Given the description of an element on the screen output the (x, y) to click on. 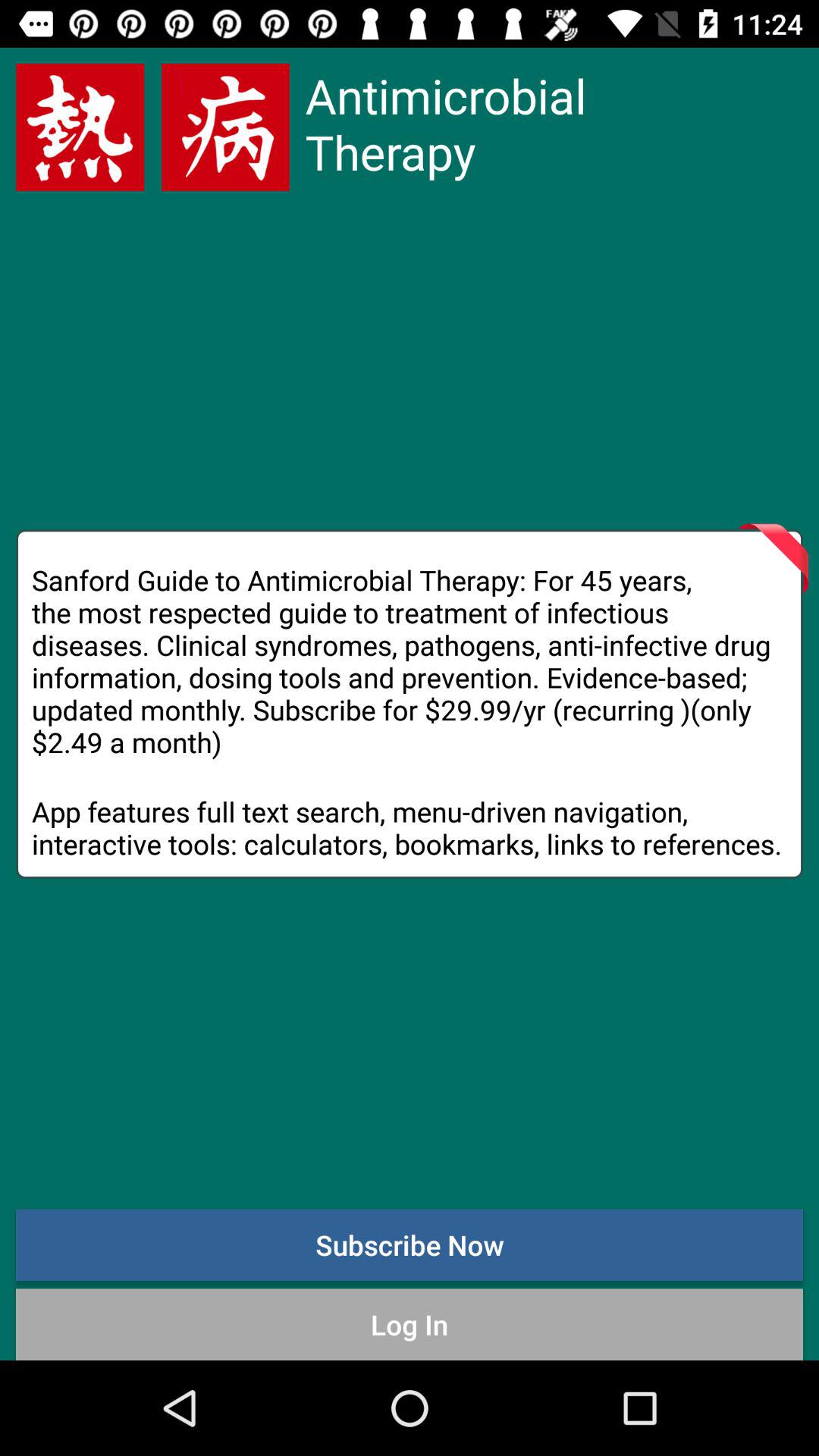
flip until the subscribe now (409, 1244)
